Given the description of an element on the screen output the (x, y) to click on. 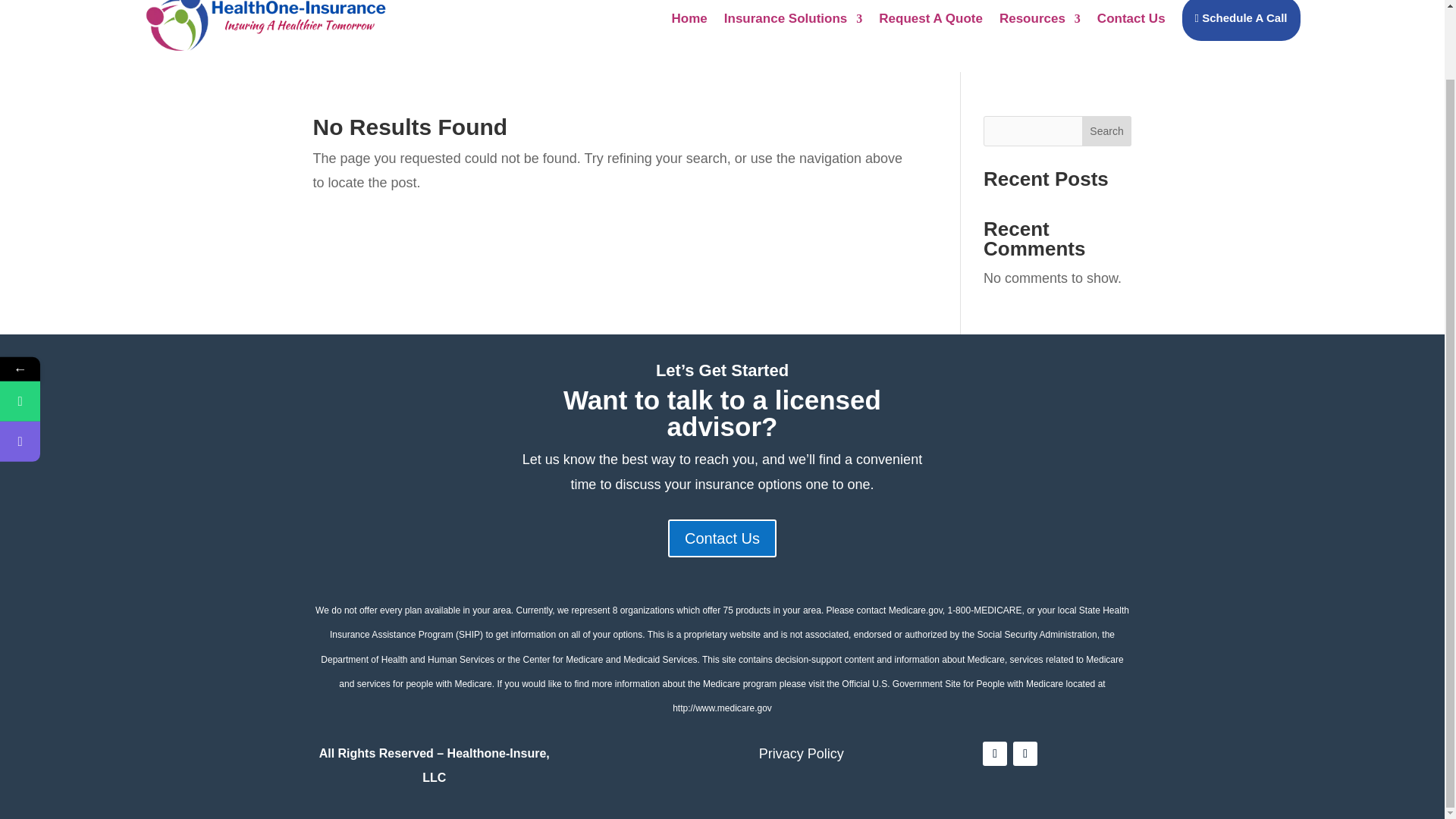
Resources (1039, 32)
Schedule A Call (92, 364)
Follow on Facebook (994, 753)
Insurance Solutions (792, 32)
Phone (20, 324)
Schedule A Call (20, 364)
Schedule A Call (92, 364)
Schedule A Call (1241, 32)
Search (1106, 131)
Contact Us (722, 538)
